Given the description of an element on the screen output the (x, y) to click on. 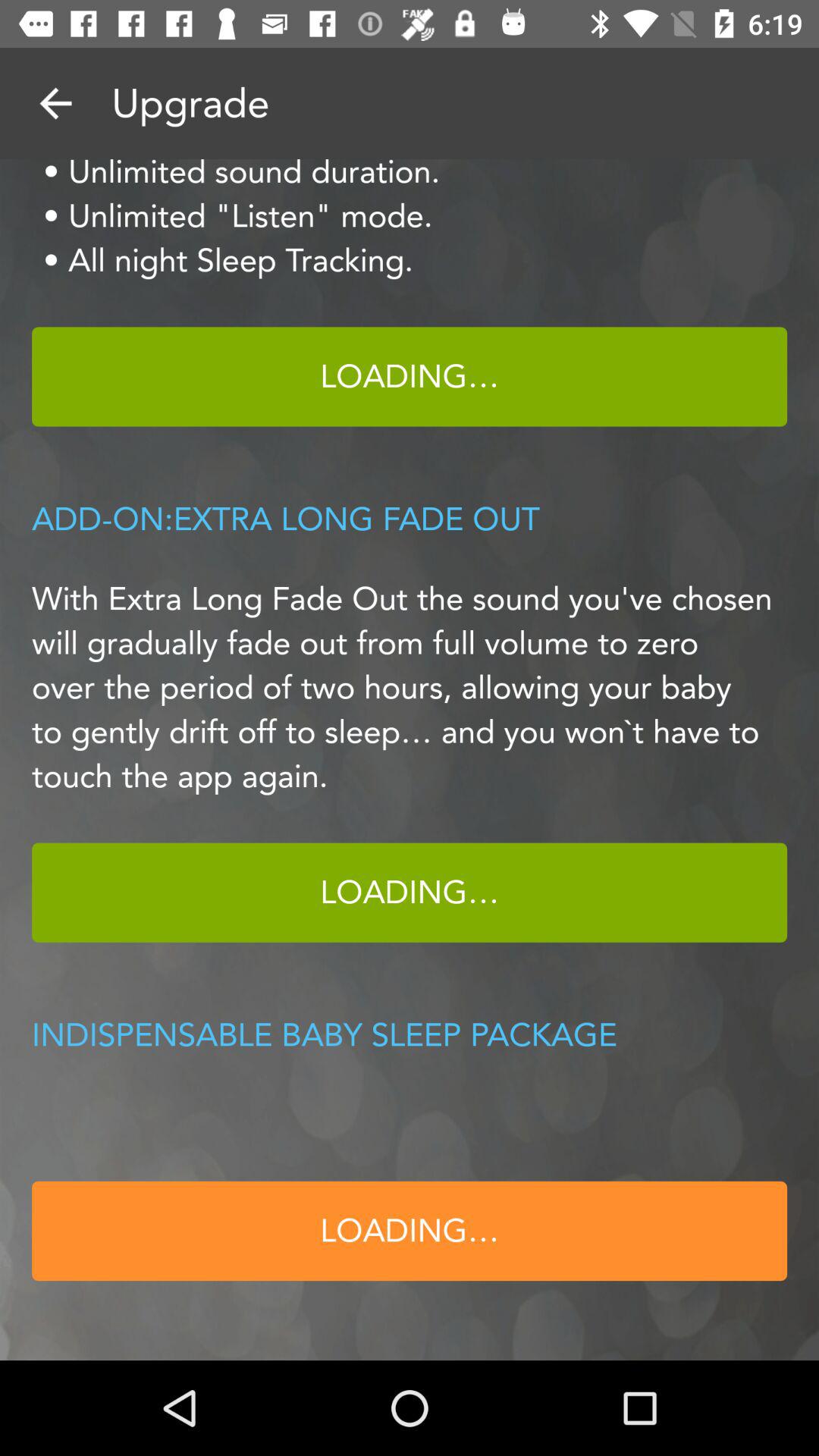
go back (55, 103)
